Given the description of an element on the screen output the (x, y) to click on. 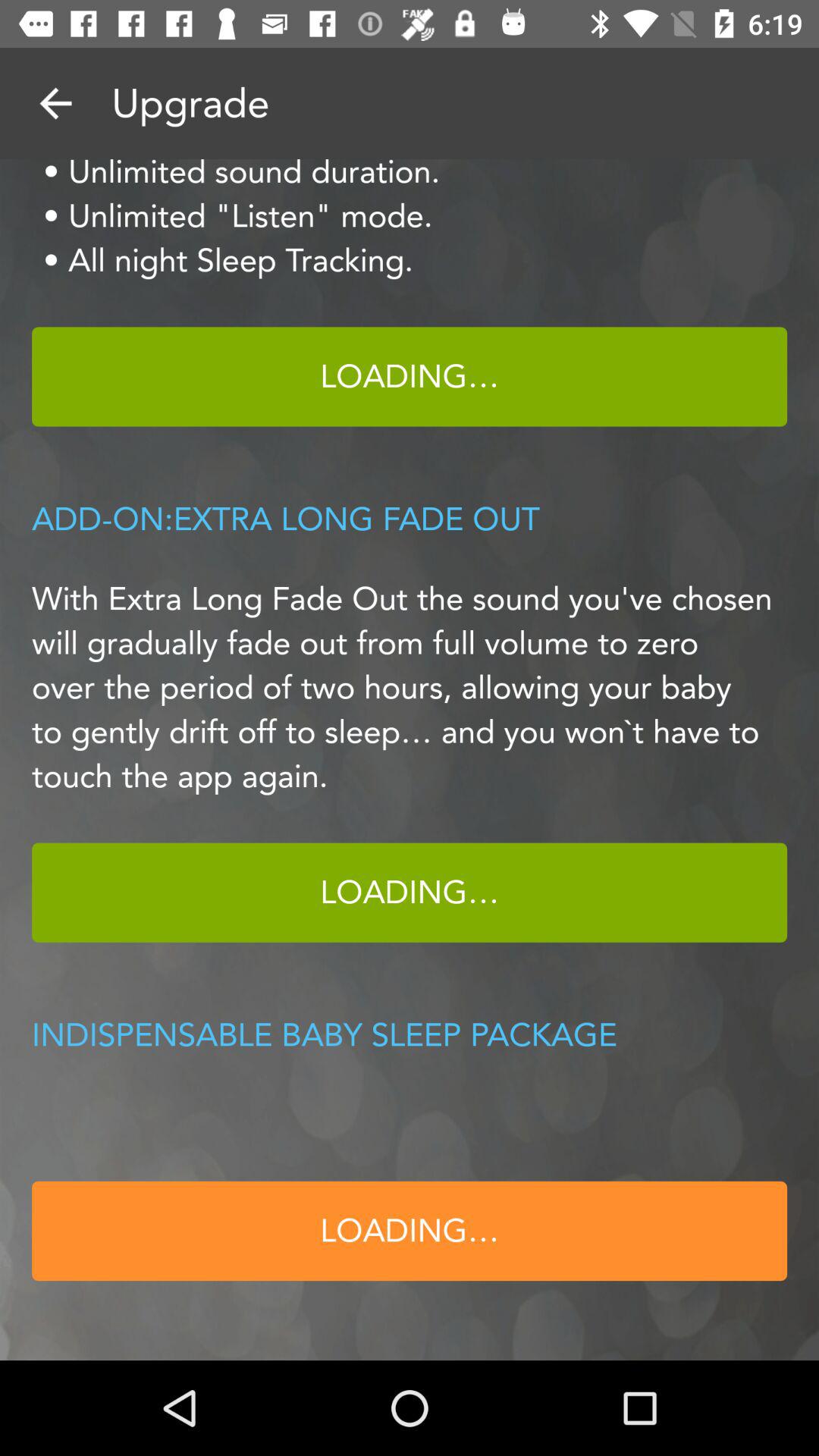
go back (55, 103)
